Given the description of an element on the screen output the (x, y) to click on. 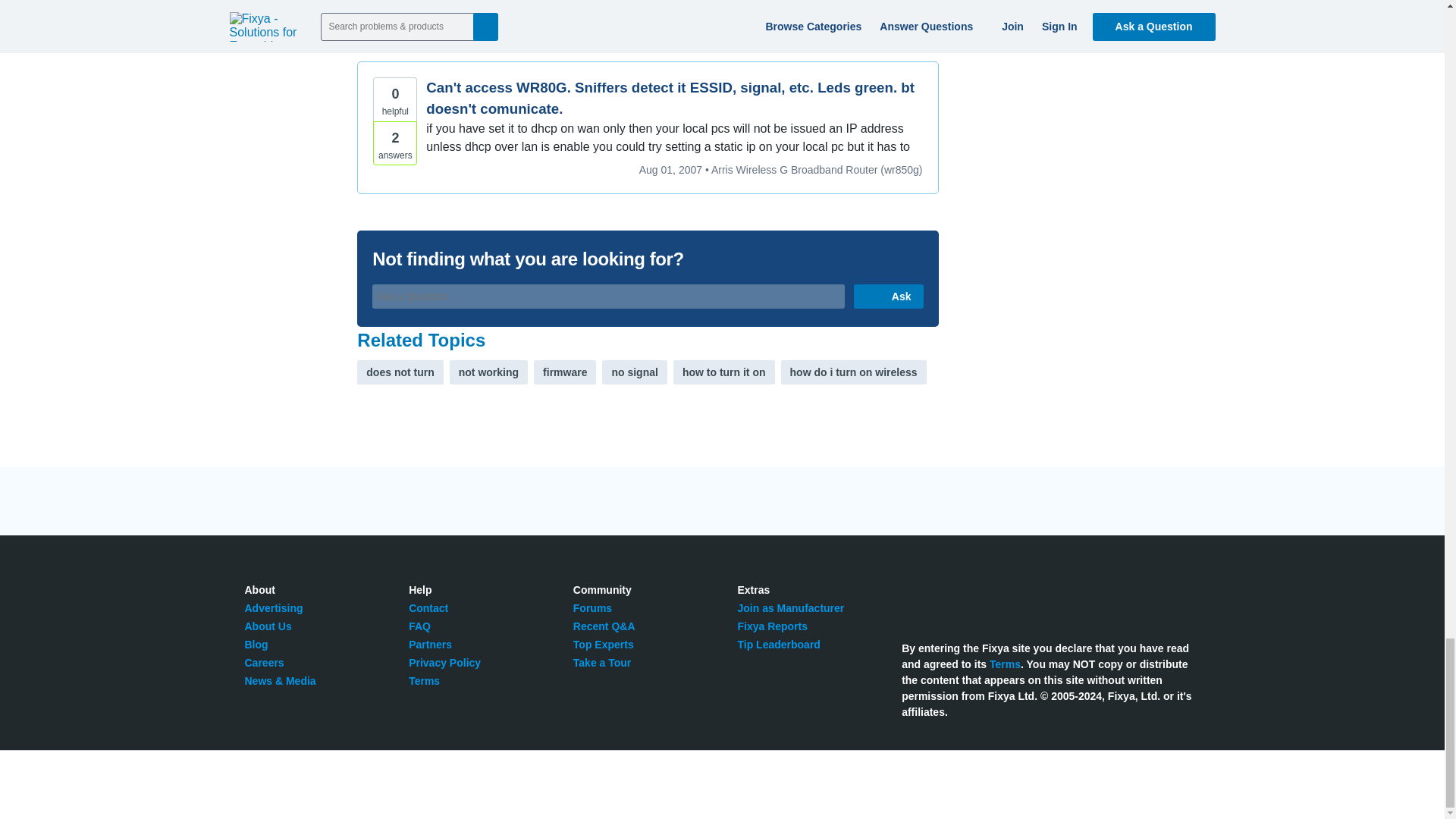
Ask (888, 296)
